Given the description of an element on the screen output the (x, y) to click on. 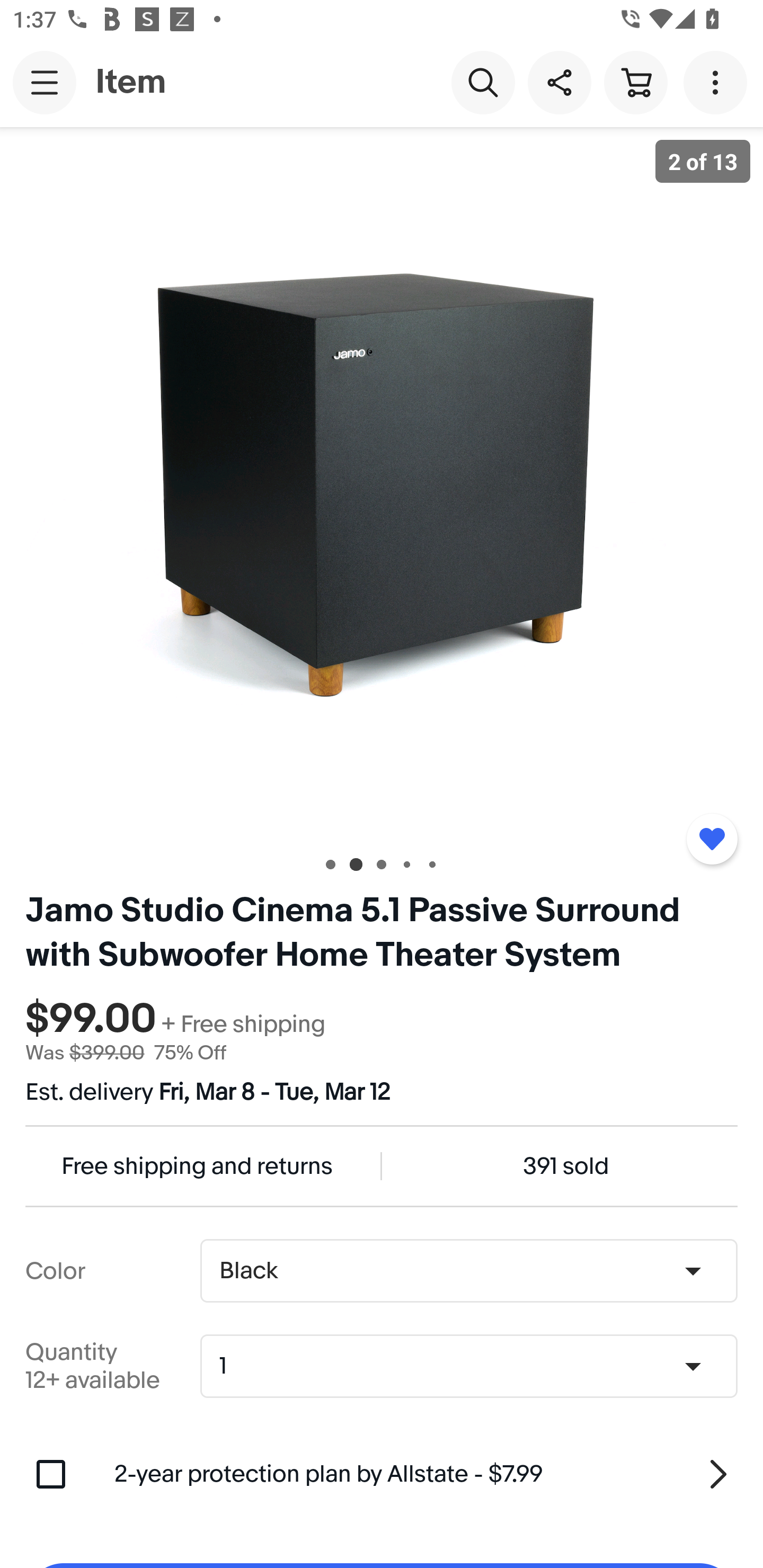
Main navigation, open (44, 82)
Search (482, 81)
Share this item (559, 81)
Cart button shopping cart (635, 81)
More options (718, 81)
Item image 2 of 13 (381, 482)
Added to watchlist (711, 838)
Color,Black Black (468, 1270)
Quantity,1,12+ available 1 (474, 1365)
2-year protection plan by Allstate - $7.99 (425, 1473)
